Given the description of an element on the screen output the (x, y) to click on. 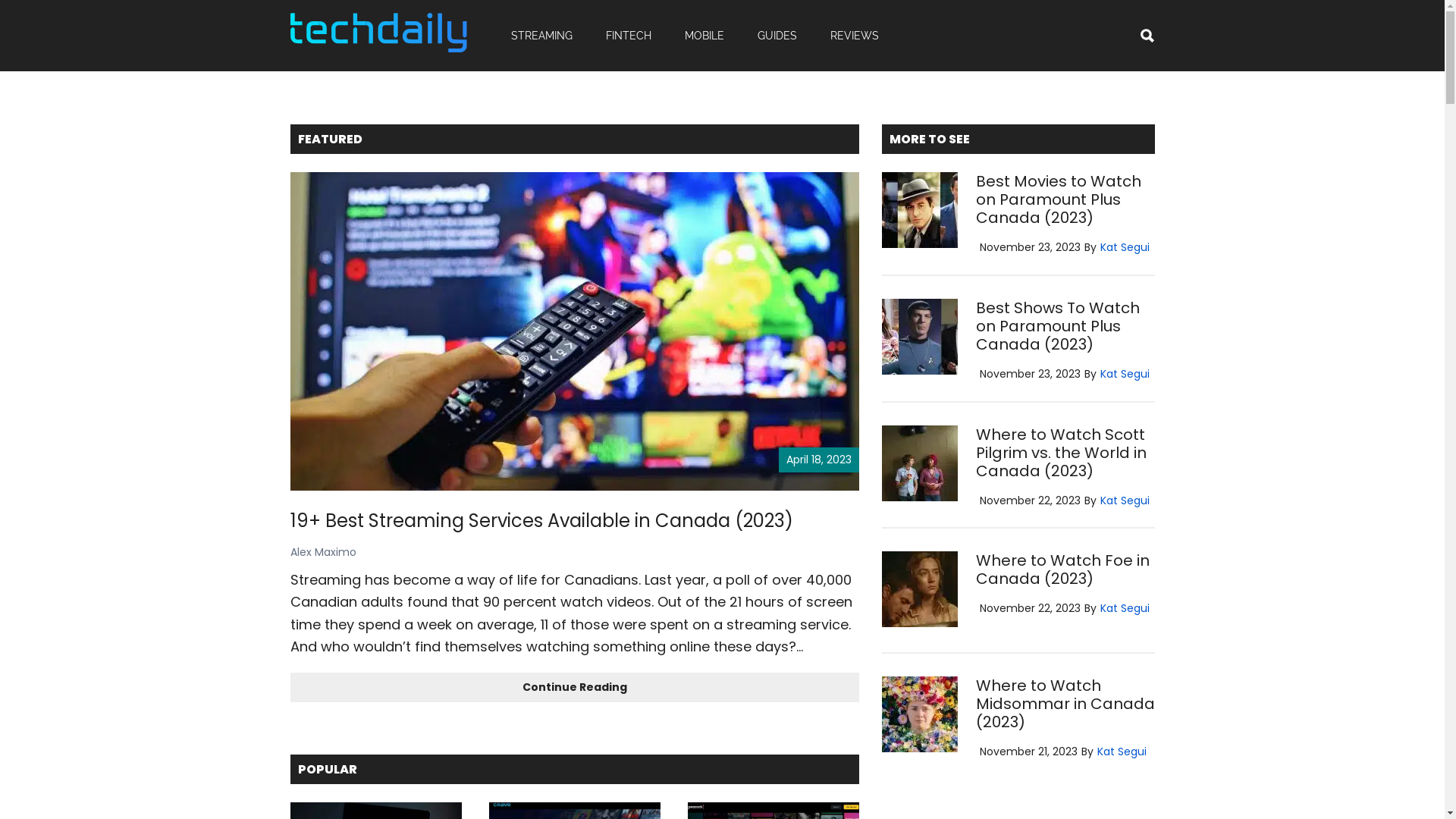
Kat Segui Element type: text (1123, 607)
Kat Segui Element type: text (1123, 373)
Where to Watch Scott Pilgrim vs. the World in Canada (2023) Element type: text (1060, 452)
STREAMING Element type: text (541, 35)
Kat Segui Element type: text (1120, 751)
Where to Watch Foe in Canada (2023) Element type: text (1061, 569)
Best Shows To Watch on Paramount Plus Canada (2023)  Element type: text (1057, 325)
Skip to main content Element type: text (0, 0)
19+ Best Streaming Services Available in Canada (2023) Element type: text (540, 520)
April 18, 2023 Element type: text (573, 331)
FINTECH Element type: text (627, 35)
GUIDES Element type: text (776, 35)
Best Movies to Watch on Paramount Plus Canada (2023) Element type: text (1057, 199)
Kat Segui Element type: text (1123, 500)
Alex Maximo Element type: text (322, 551)
Kat Segui Element type: text (1123, 246)
Where to Watch Midsommar in Canada (2023) Element type: text (1064, 703)
REVIEWS Element type: text (853, 35)
MOBILE Element type: text (703, 35)
